Given the description of an element on the screen output the (x, y) to click on. 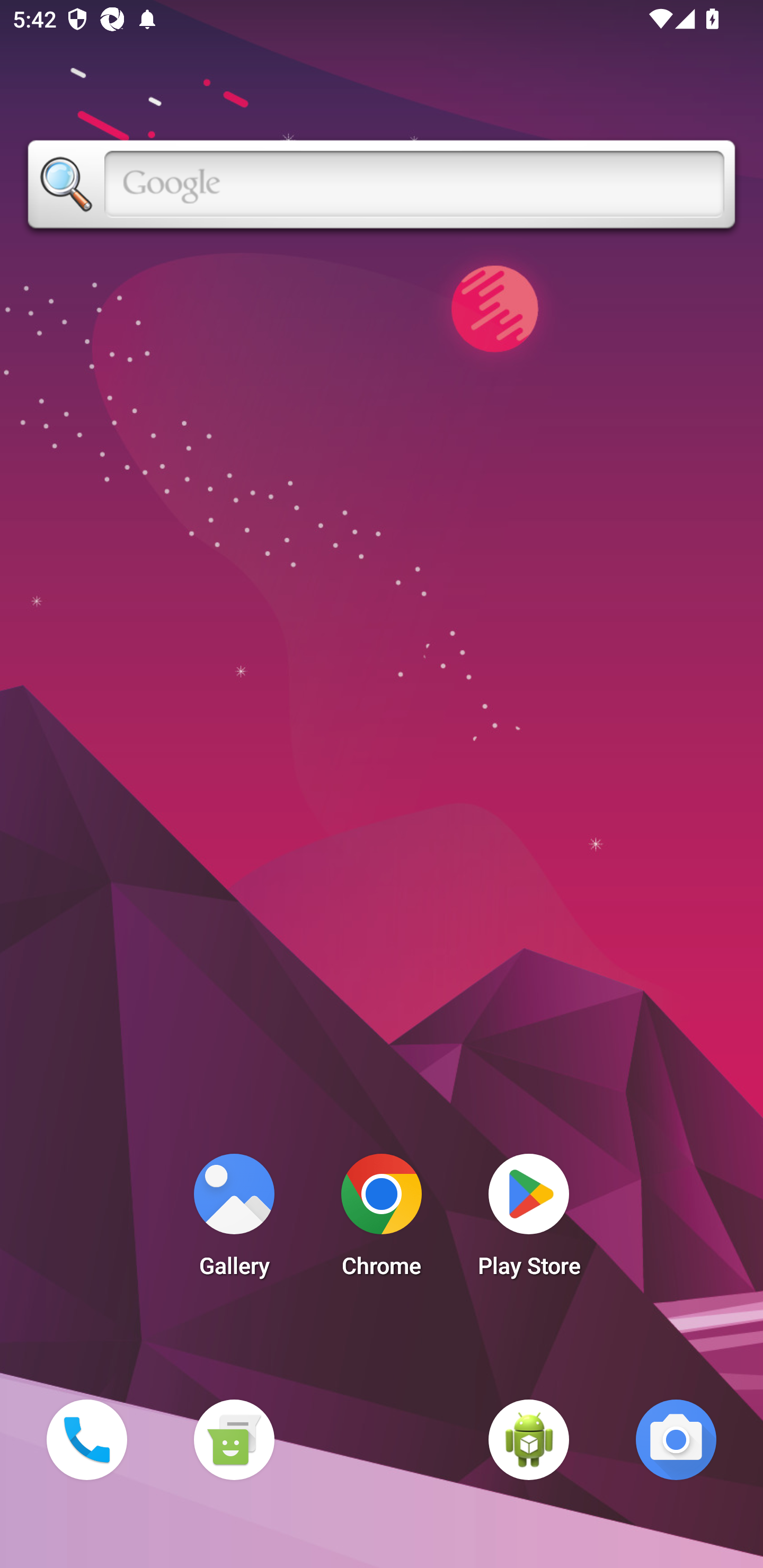
Gallery (233, 1220)
Chrome (381, 1220)
Play Store (528, 1220)
Phone (86, 1439)
Messaging (233, 1439)
WebView Browser Tester (528, 1439)
Camera (676, 1439)
